Given the description of an element on the screen output the (x, y) to click on. 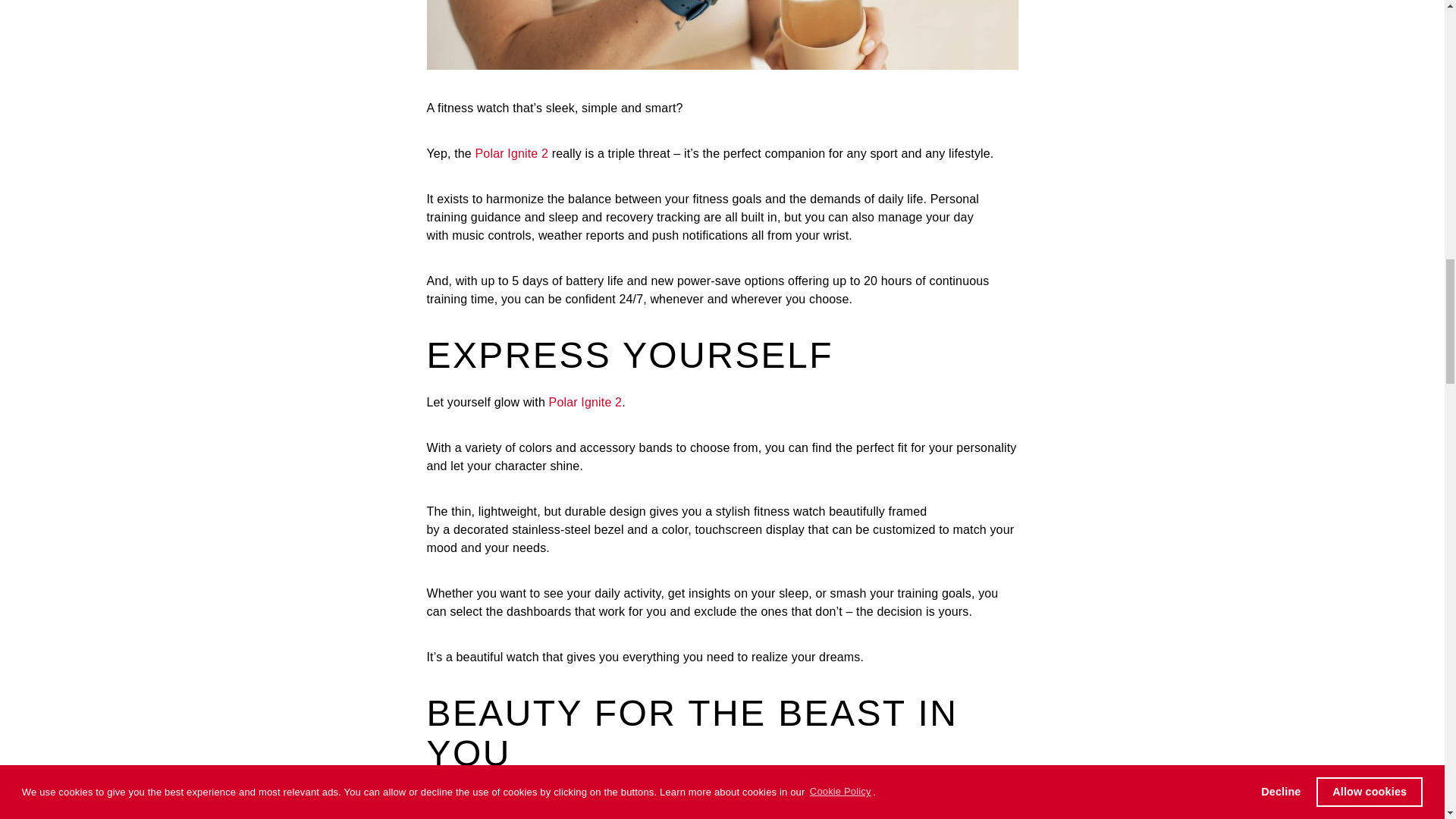
Polar Ignite 2 (585, 401)
Polar Ignite 2 (512, 153)
